Given the description of an element on the screen output the (x, y) to click on. 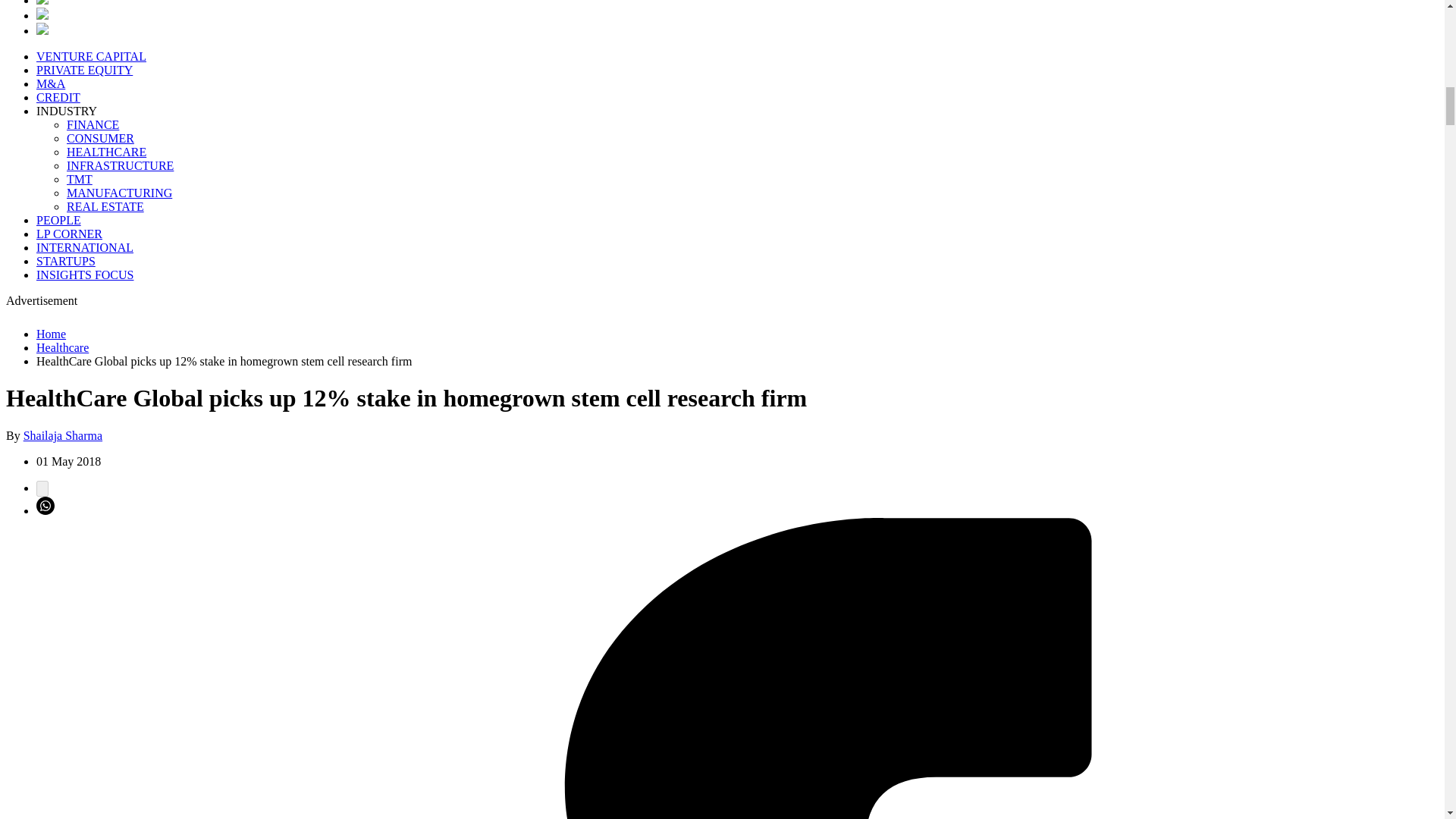
HEALTHCARE (106, 151)
INDUSTRY (66, 110)
PEOPLE (58, 219)
CREDIT (58, 97)
PRIVATE EQUITY (84, 69)
Healthcare (62, 347)
VENTURE CAPITAL (91, 56)
INSIGHTS FOCUS (84, 274)
Home (50, 333)
LP CORNER (68, 233)
